Given the description of an element on the screen output the (x, y) to click on. 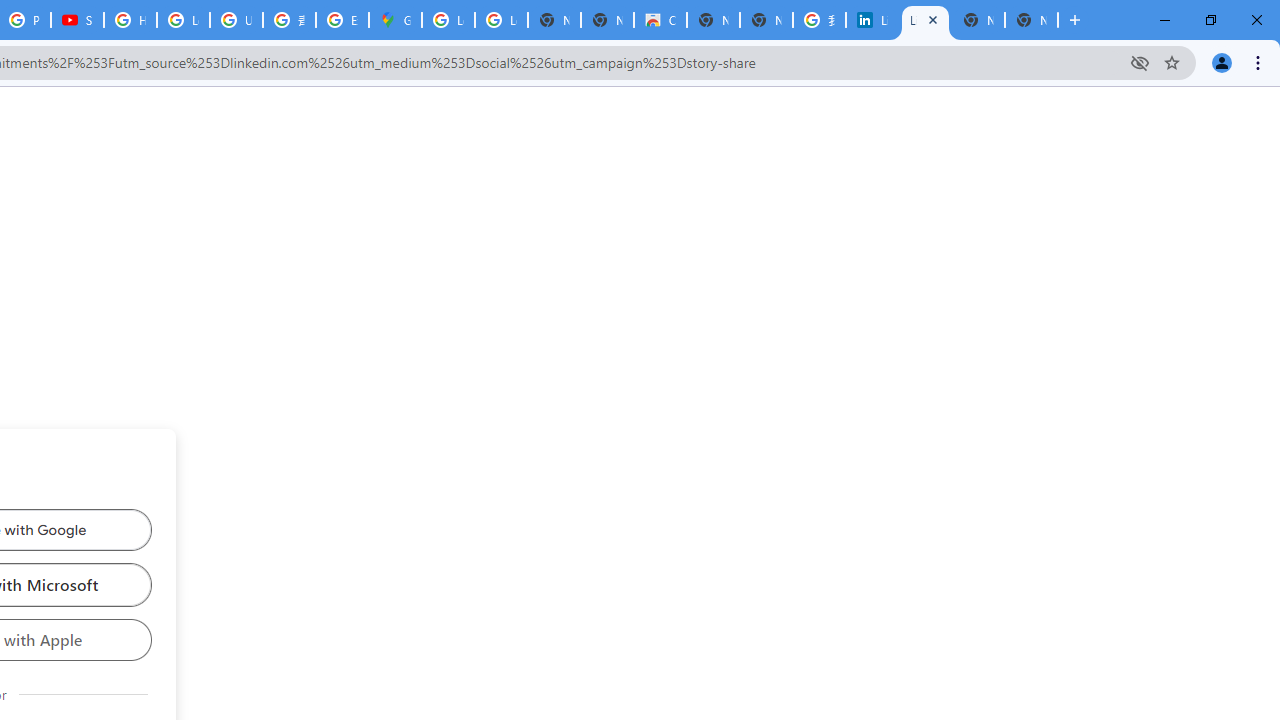
Google Maps (395, 20)
Subscriptions - YouTube (77, 20)
New Tab (1031, 20)
Chrome Web Store (660, 20)
